Given the description of an element on the screen output the (x, y) to click on. 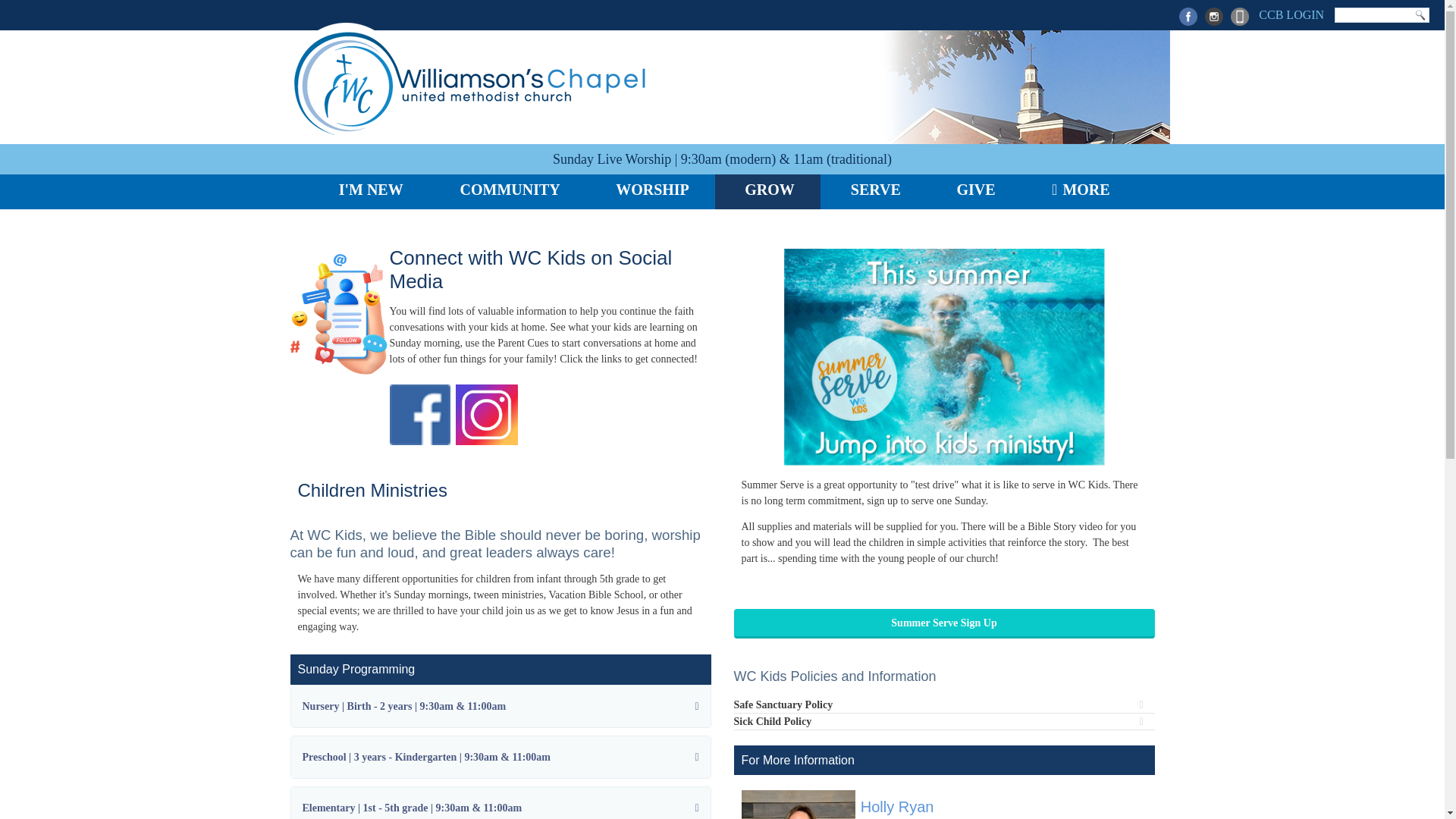
SERVE (873, 191)
I'M NEW (369, 191)
CCB LOGIN (1288, 17)
COMMUNITY (507, 191)
GIVE (973, 191)
GROW (767, 191)
Sunday Live Worship (612, 159)
WORSHIP (649, 191)
